Given the description of an element on the screen output the (x, y) to click on. 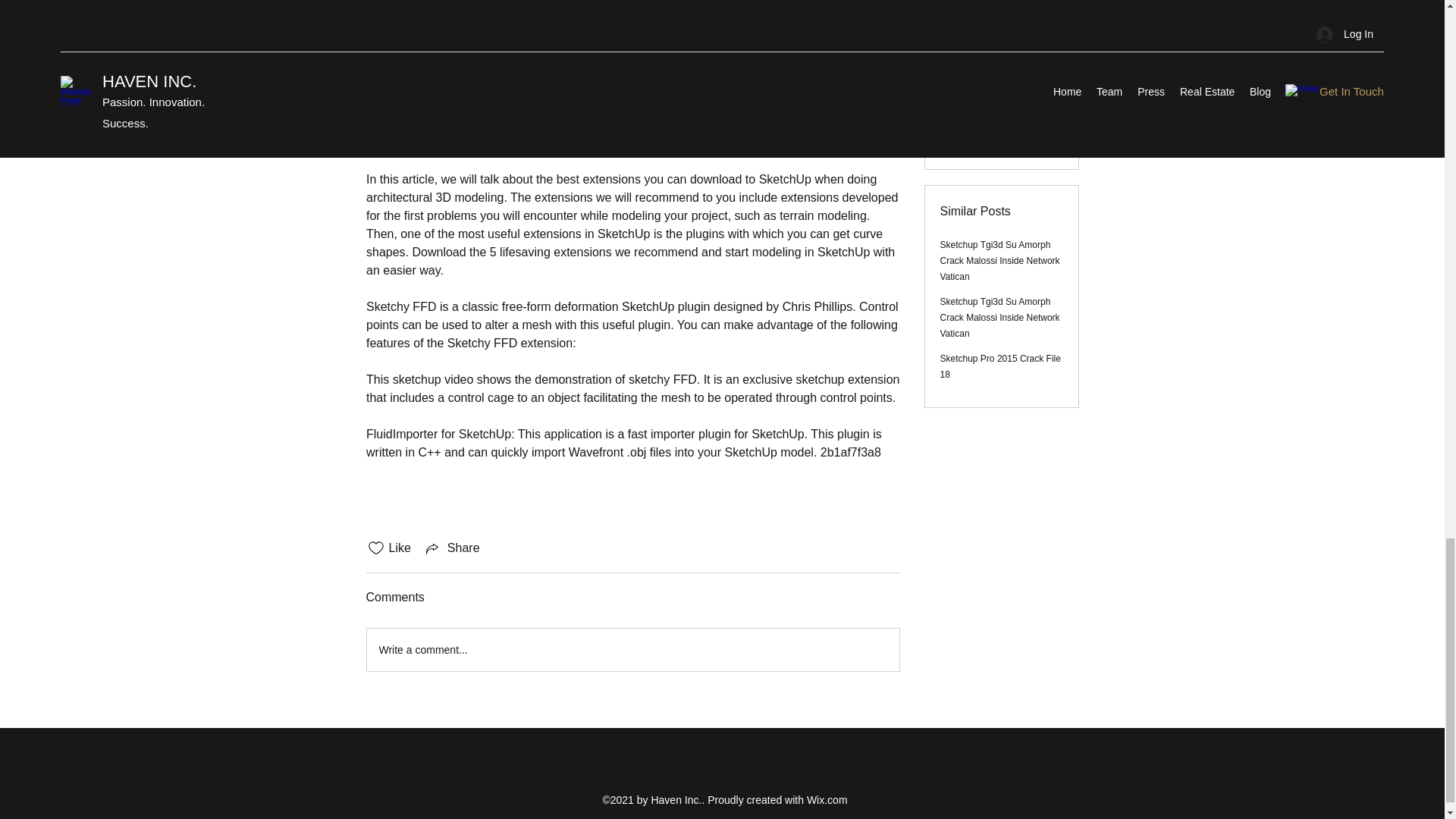
Write a comment... (632, 649)
Share (451, 547)
